Given the description of an element on the screen output the (x, y) to click on. 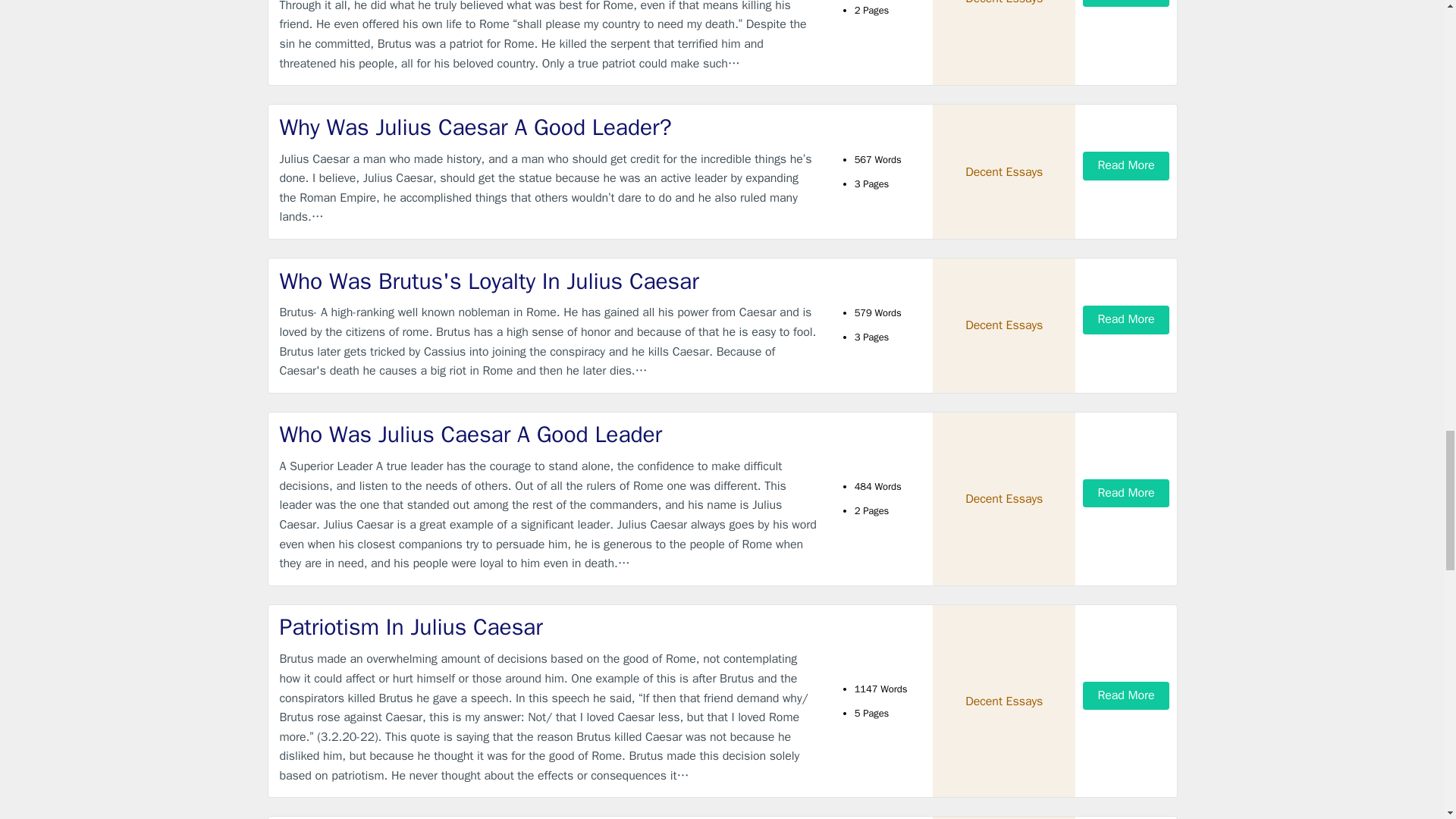
Read More (1126, 3)
Why Was Julius Caesar A Good Leader? (548, 127)
Who Was Brutus's Loyalty In Julius Caesar (548, 281)
Read More (1126, 165)
